Given the description of an element on the screen output the (x, y) to click on. 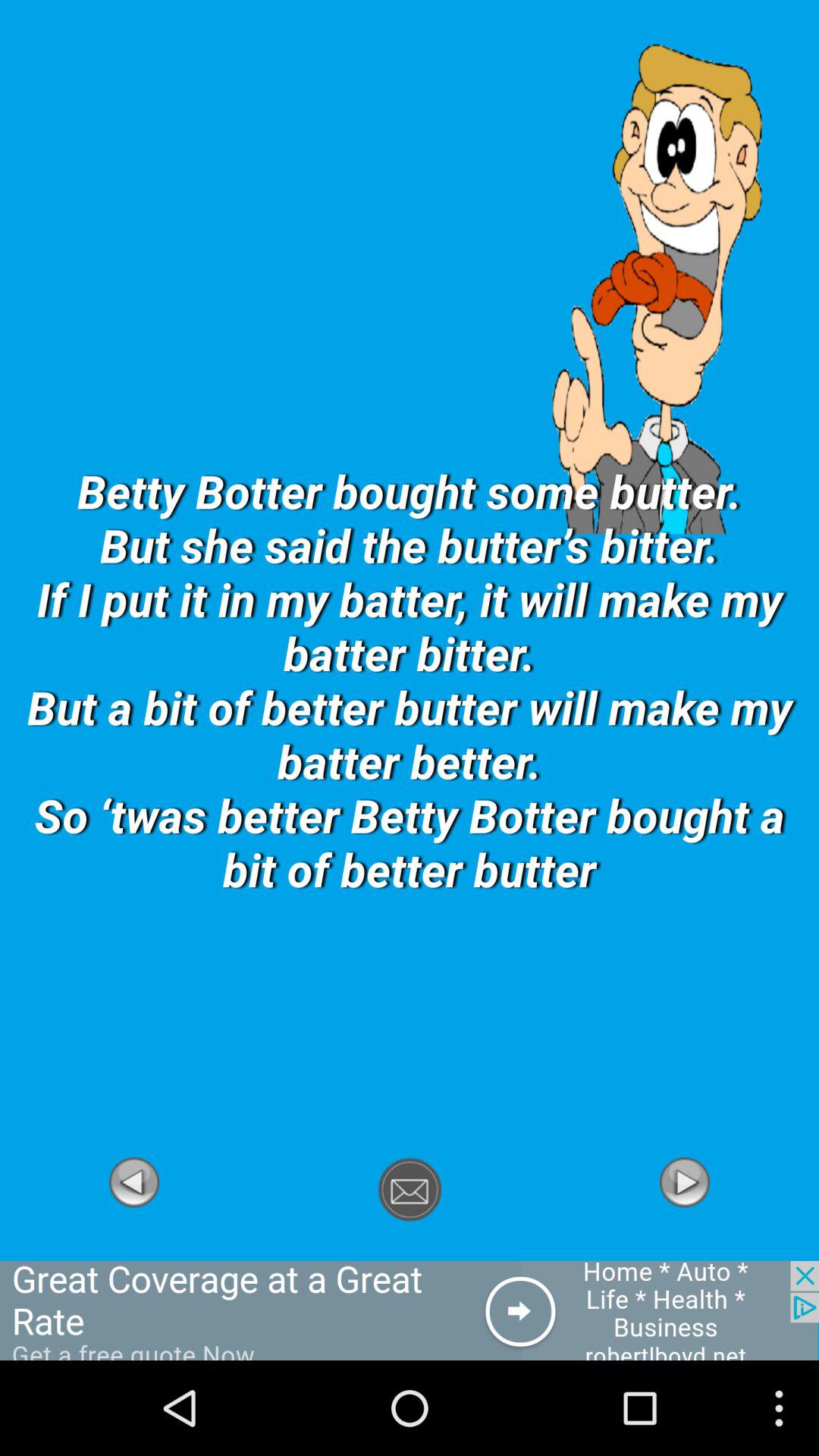
play media (684, 1251)
